Given the description of an element on the screen output the (x, y) to click on. 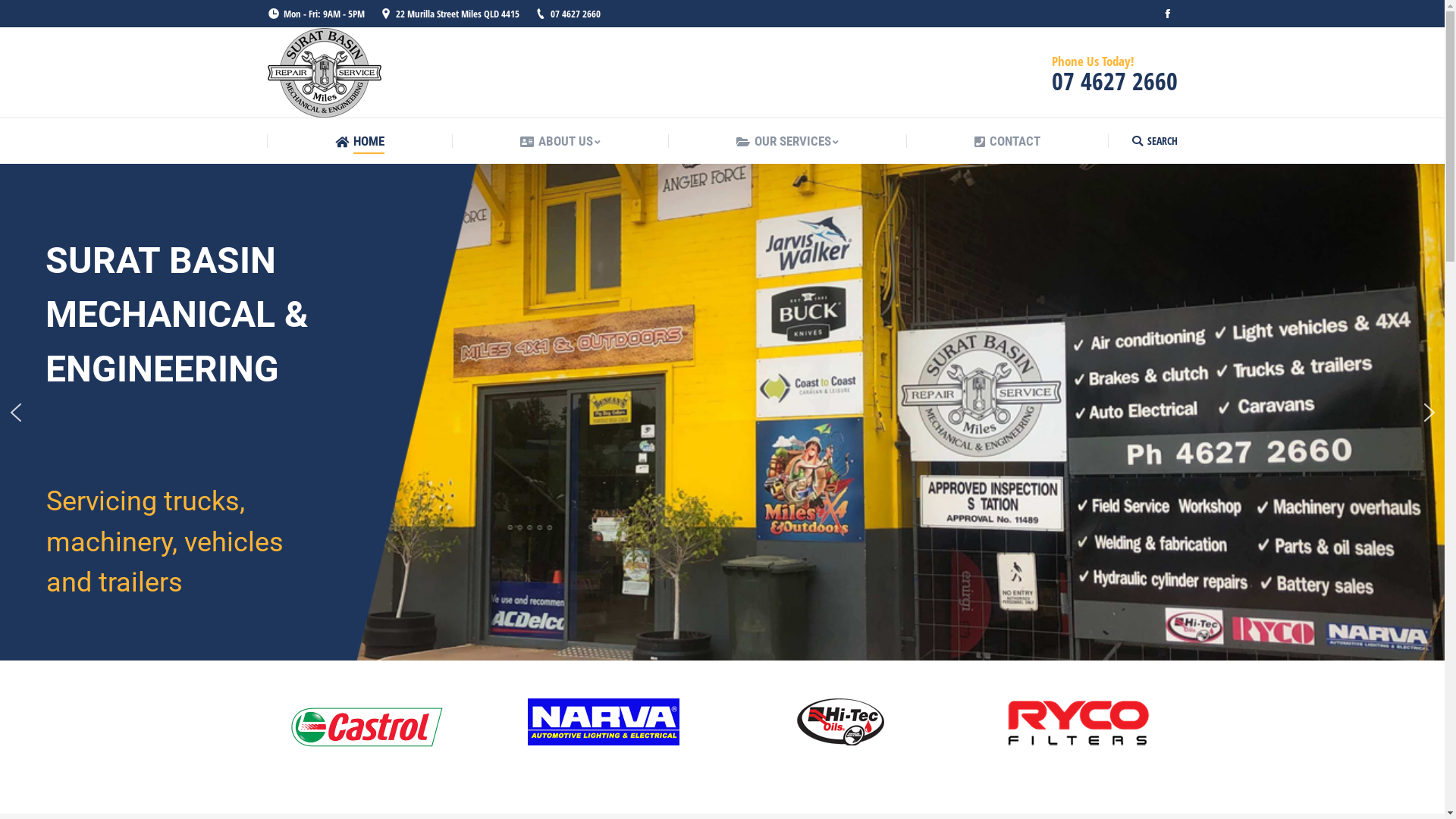
SEARCH Element type: text (1154, 140)
ABOUT US Element type: text (560, 141)
CONTACT Element type: text (1007, 141)
HOME Element type: text (359, 141)
Go! Element type: text (20, 14)
OUR SERVICES Element type: text (787, 141)
Facebook Element type: text (1166, 13)
